Given the description of an element on the screen output the (x, y) to click on. 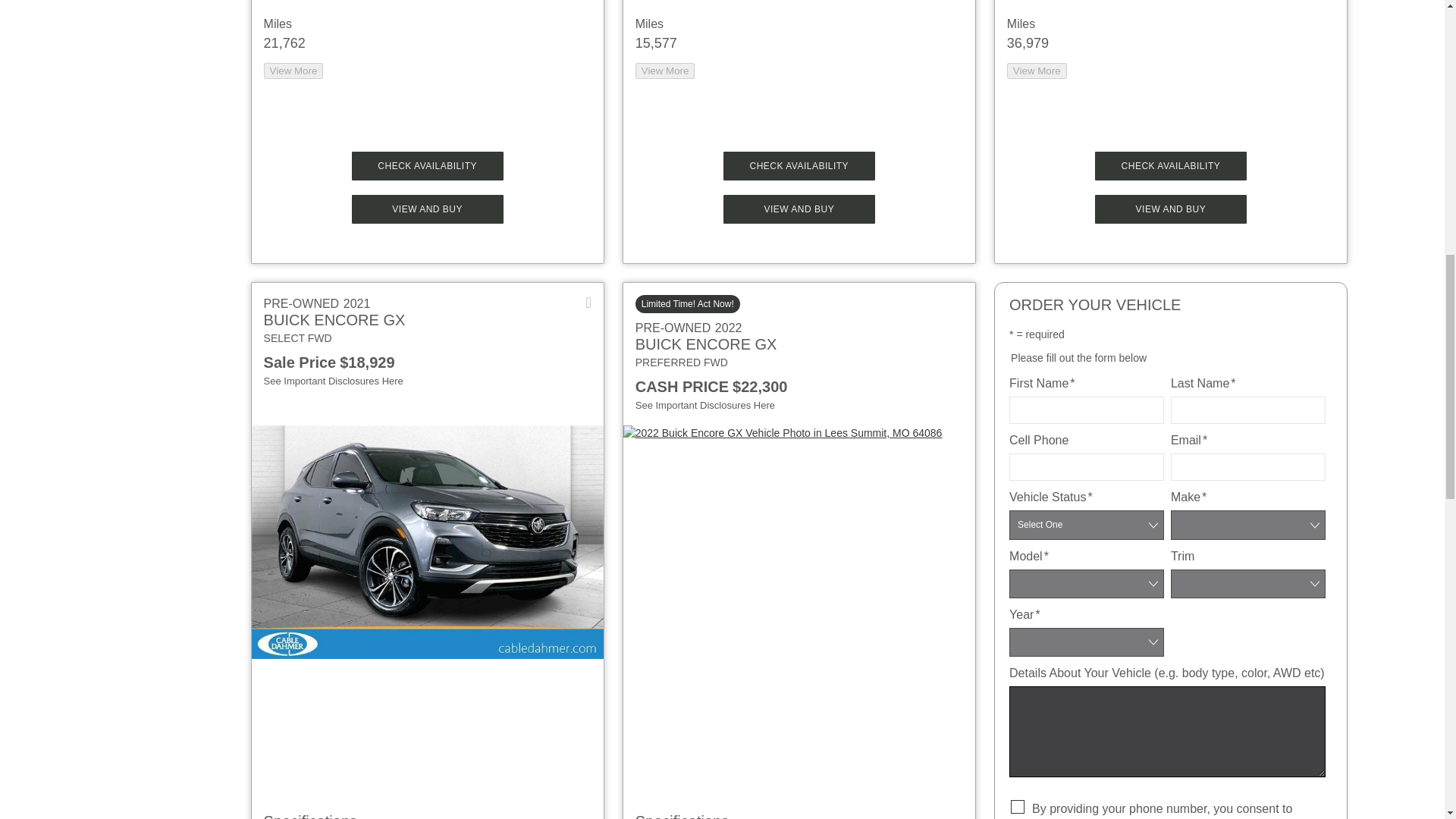
Check Availability (1170, 165)
View And Buy (427, 208)
Check Availability (427, 165)
View And Buy (1170, 208)
Check Availability (799, 165)
View And Buy (799, 208)
